Given the description of an element on the screen output the (x, y) to click on. 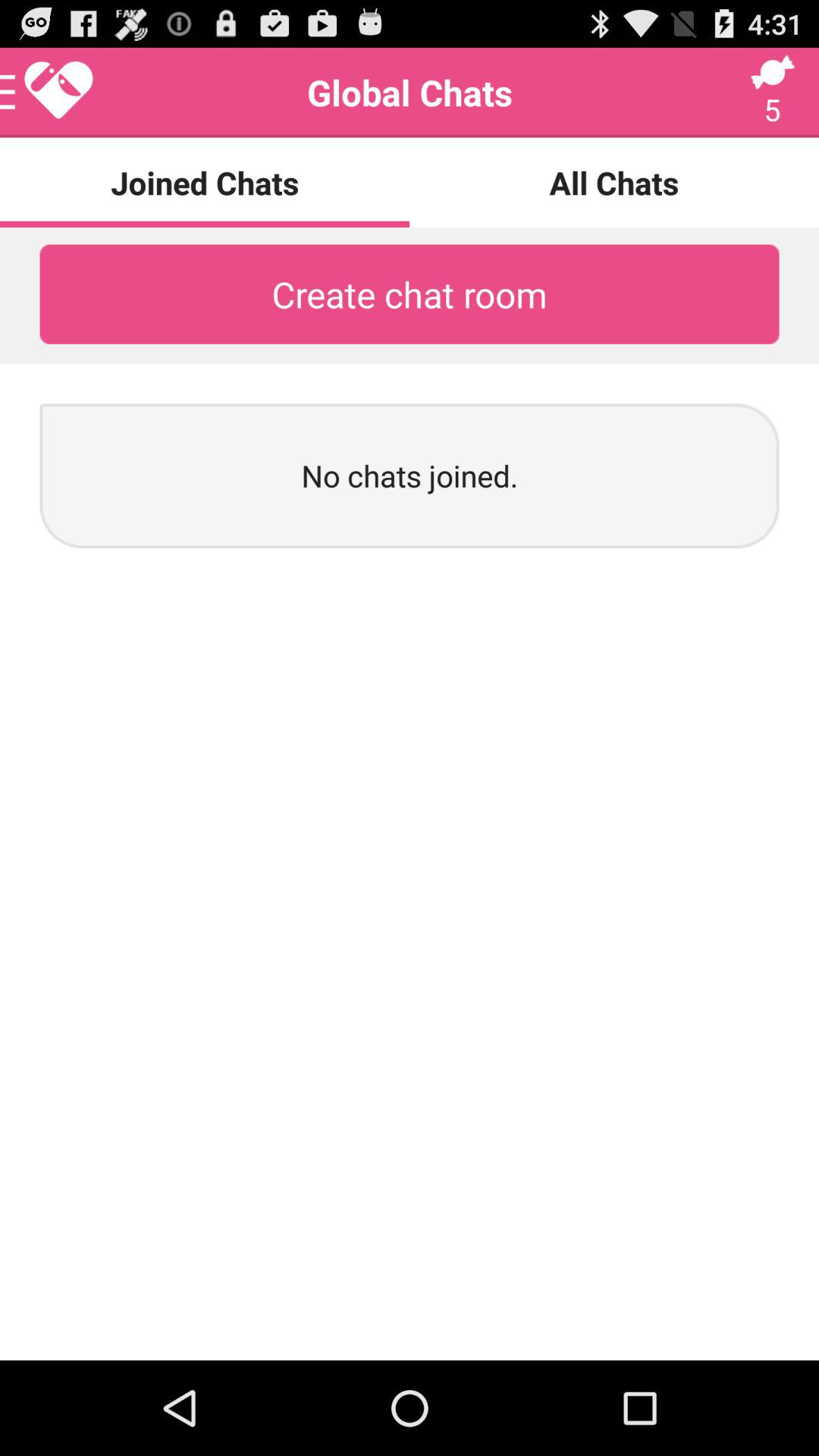
choose radio button next to joined chats item (614, 182)
